Given the description of an element on the screen output the (x, y) to click on. 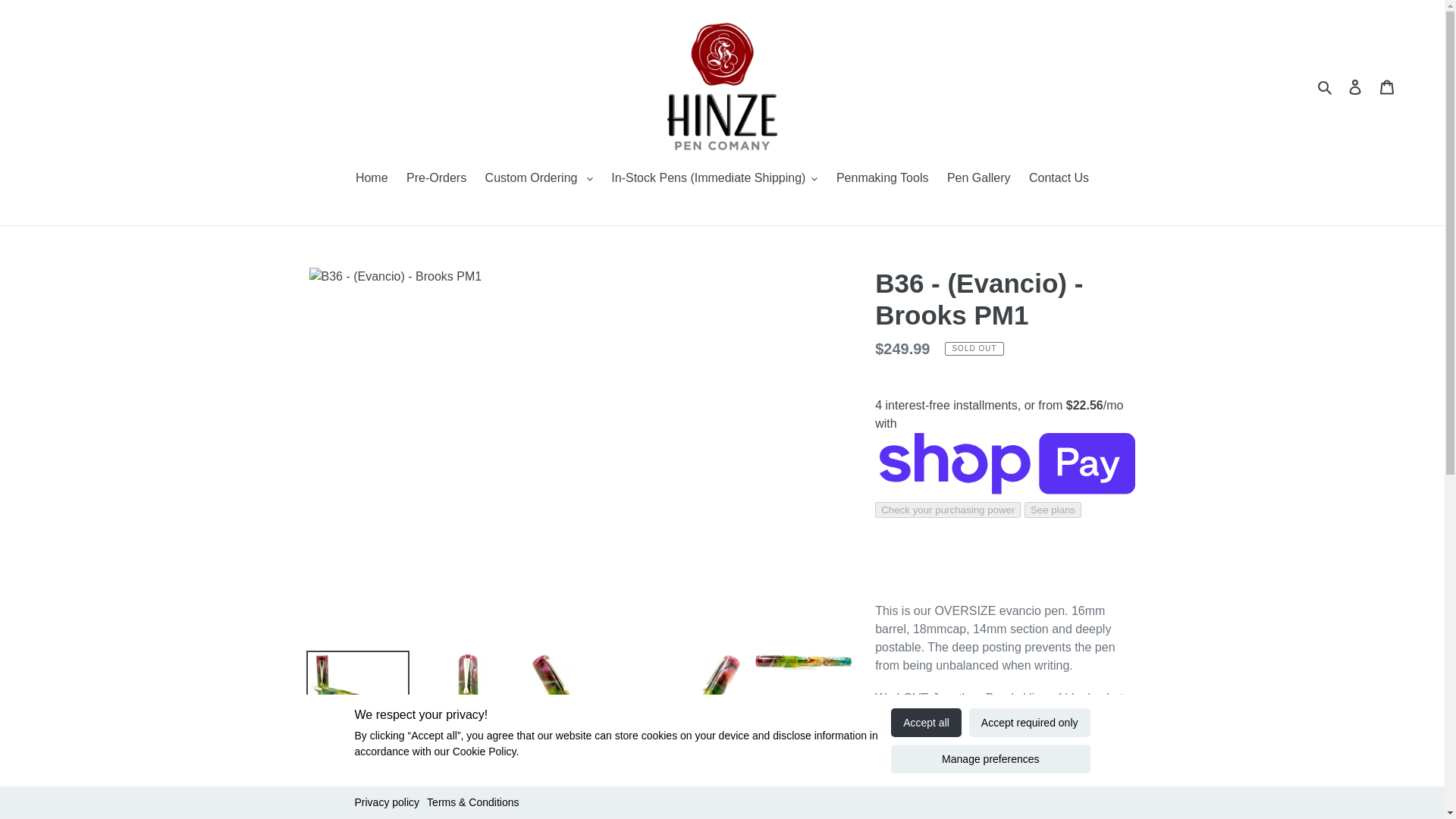
Manage preferences (990, 758)
Privacy policy (387, 802)
Cart (1387, 86)
Log in (1355, 86)
Accept required only (1029, 722)
Search (1326, 86)
Accept all (925, 722)
